Given the description of an element on the screen output the (x, y) to click on. 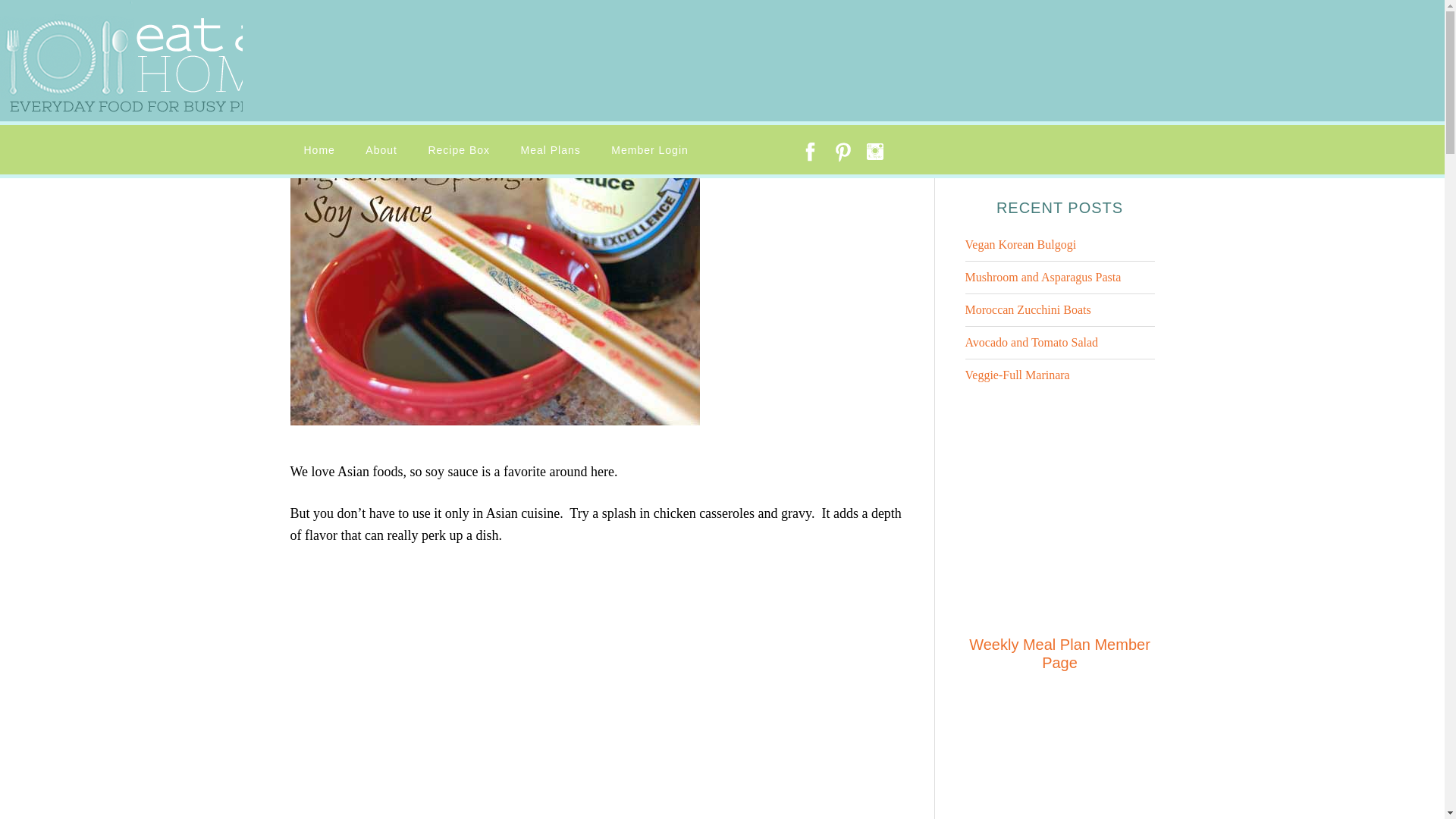
soy sauce words (493, 289)
Member Login (648, 149)
Ingredient Spotlight: Soy Sauce 2012 (502, 89)
Home (318, 149)
Tiffany King (336, 124)
Meal Plans (550, 149)
Recipe Box (458, 149)
About (381, 149)
11 Comments (422, 124)
